Given the description of an element on the screen output the (x, y) to click on. 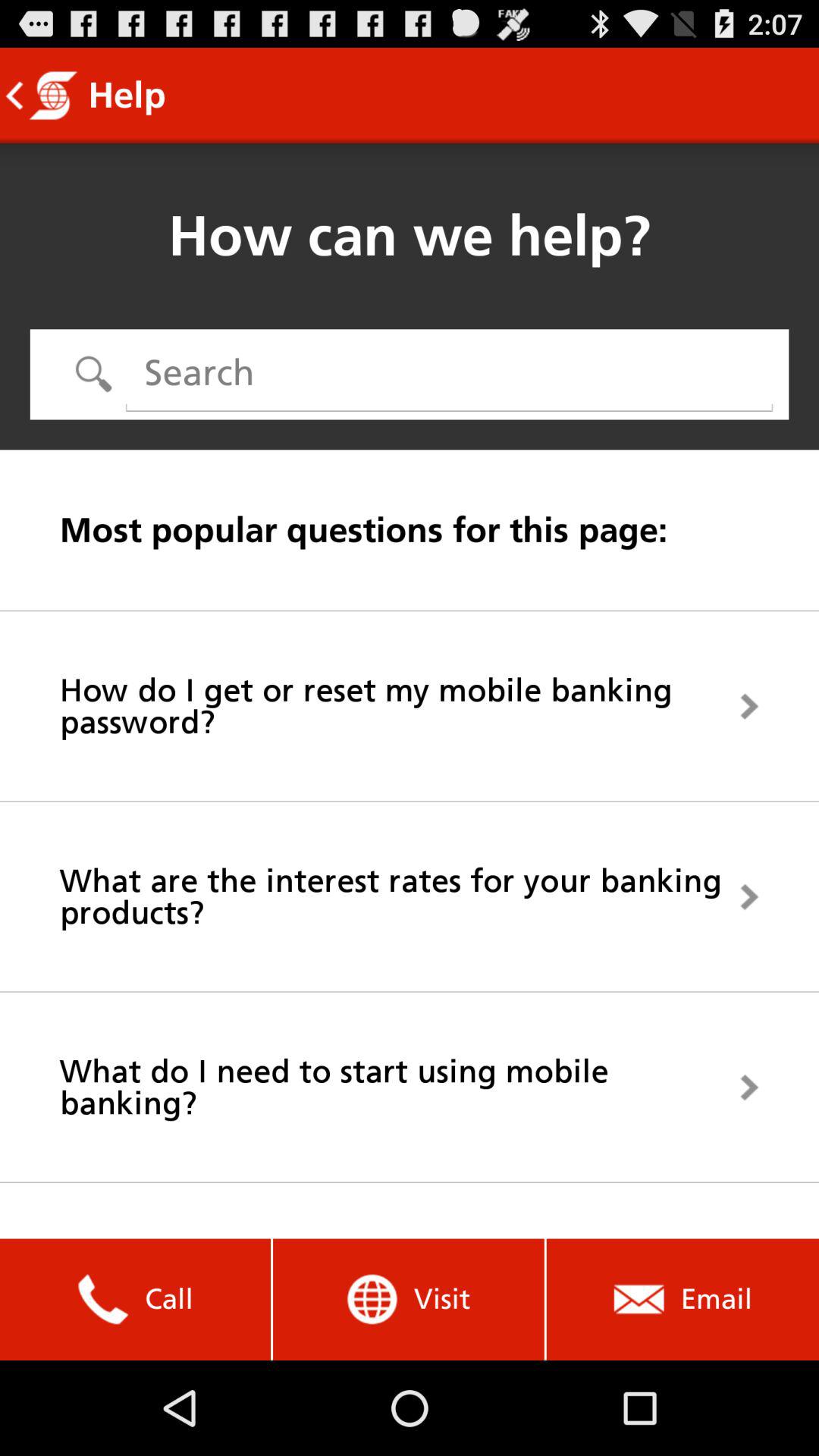
tap icon above what do i app (409, 896)
